Given the description of an element on the screen output the (x, y) to click on. 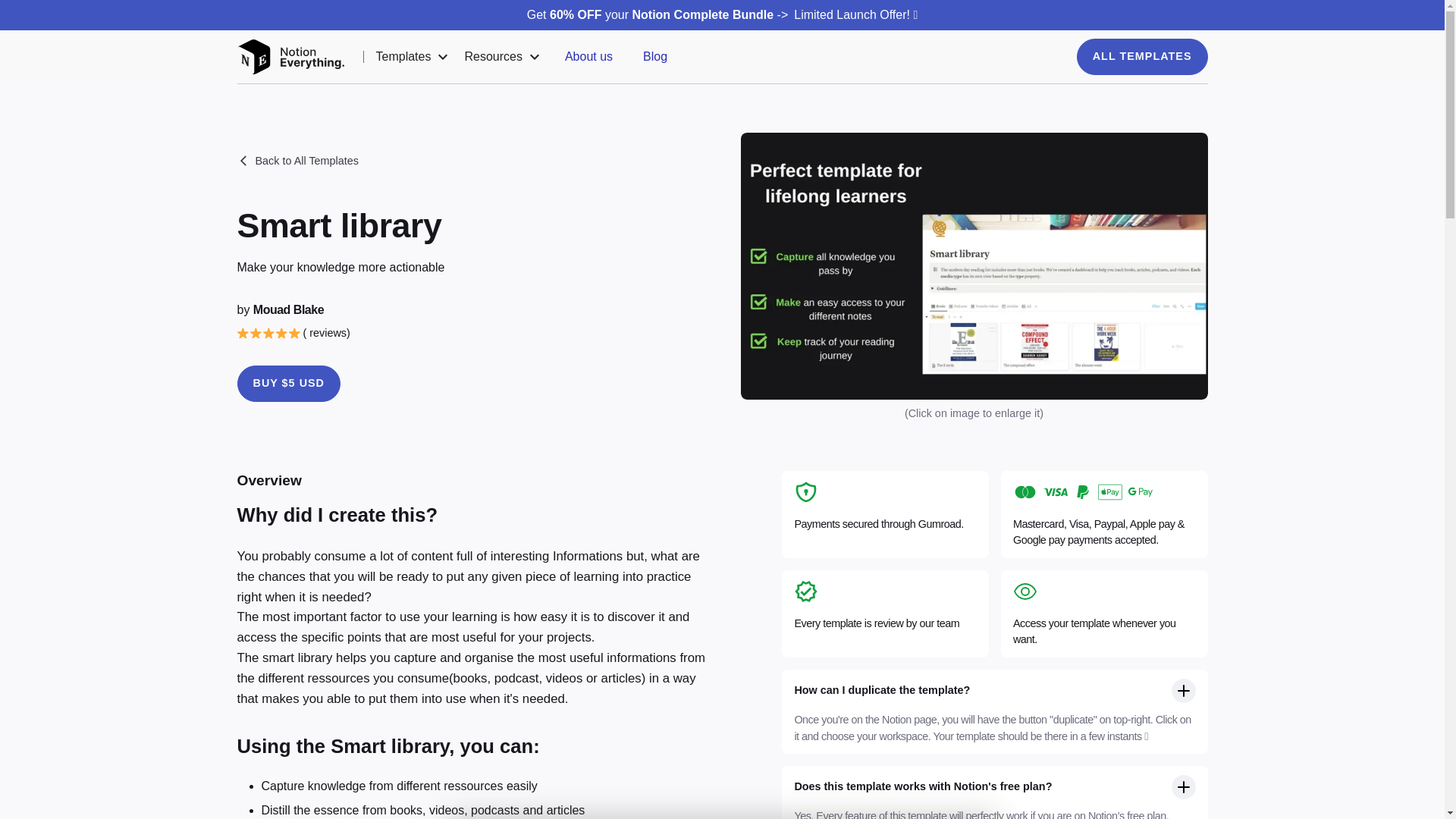
ALL TEMPLATES (1142, 56)
Back to All Templates (296, 161)
Blog (655, 56)
About us (588, 56)
